Given the description of an element on the screen output the (x, y) to click on. 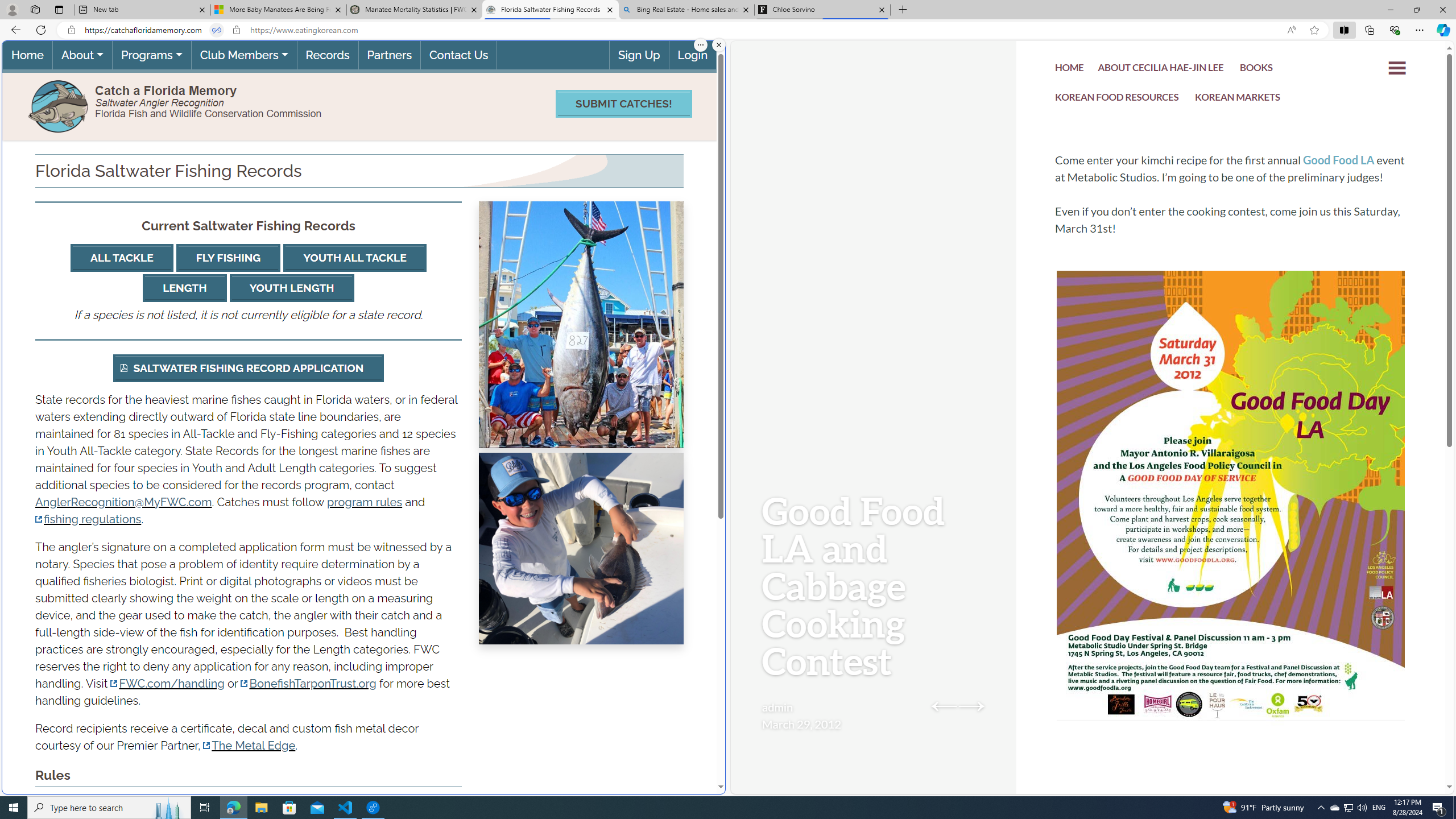
SUBMIT CATCHES! (622, 103)
Sign Up (638, 54)
Chloe Sorvino (822, 9)
ABOUT CECILIA HAE-JIN LEE (1160, 68)
HOME (1069, 70)
Bing Real Estate - Home sales and rental listings (685, 9)
Catch A Florida Memory Logo (58, 104)
